Given the description of an element on the screen output the (x, y) to click on. 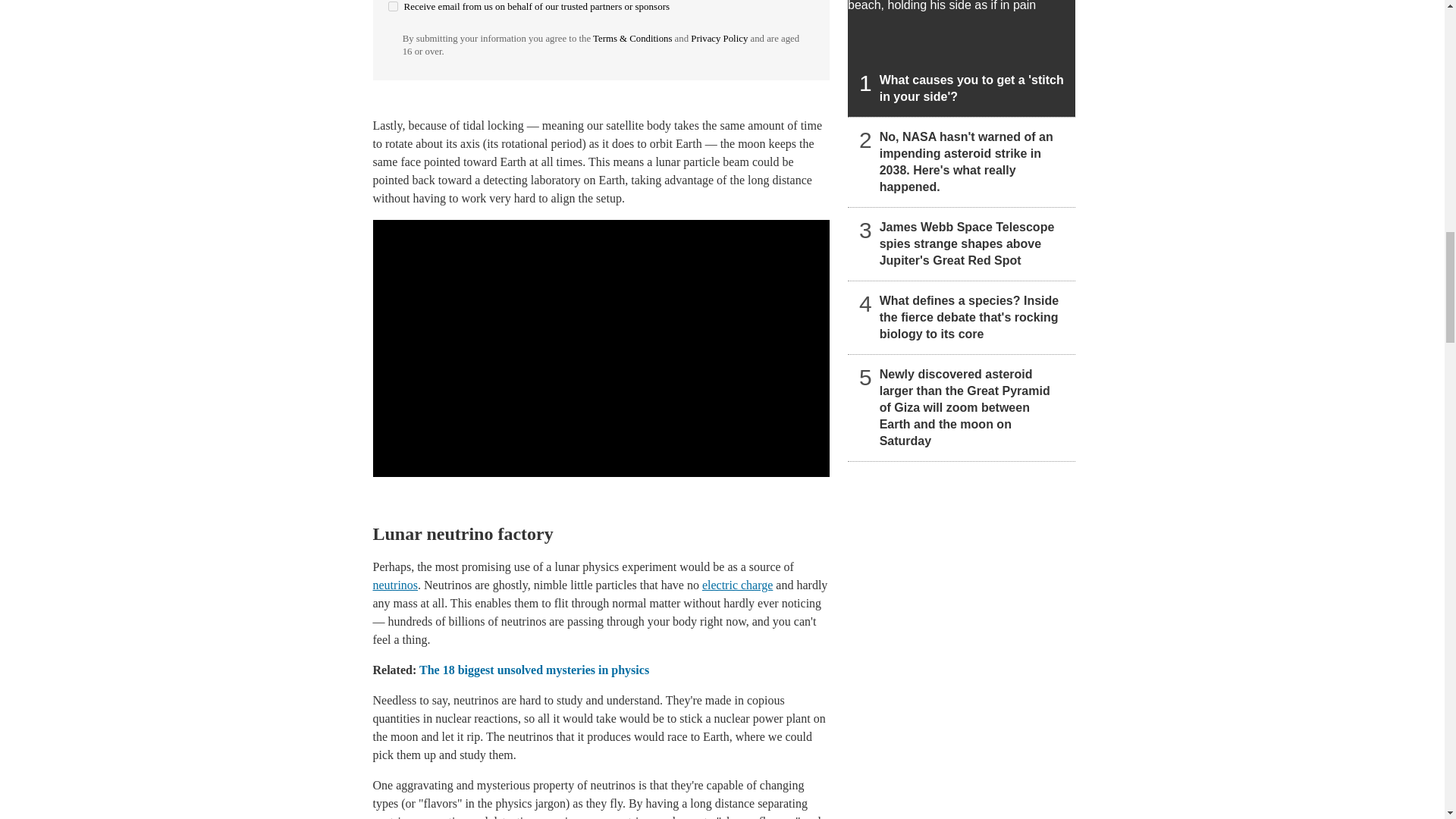
What causes you to get a 'stitch in your side'? (961, 58)
on (392, 6)
